Given the description of an element on the screen output the (x, y) to click on. 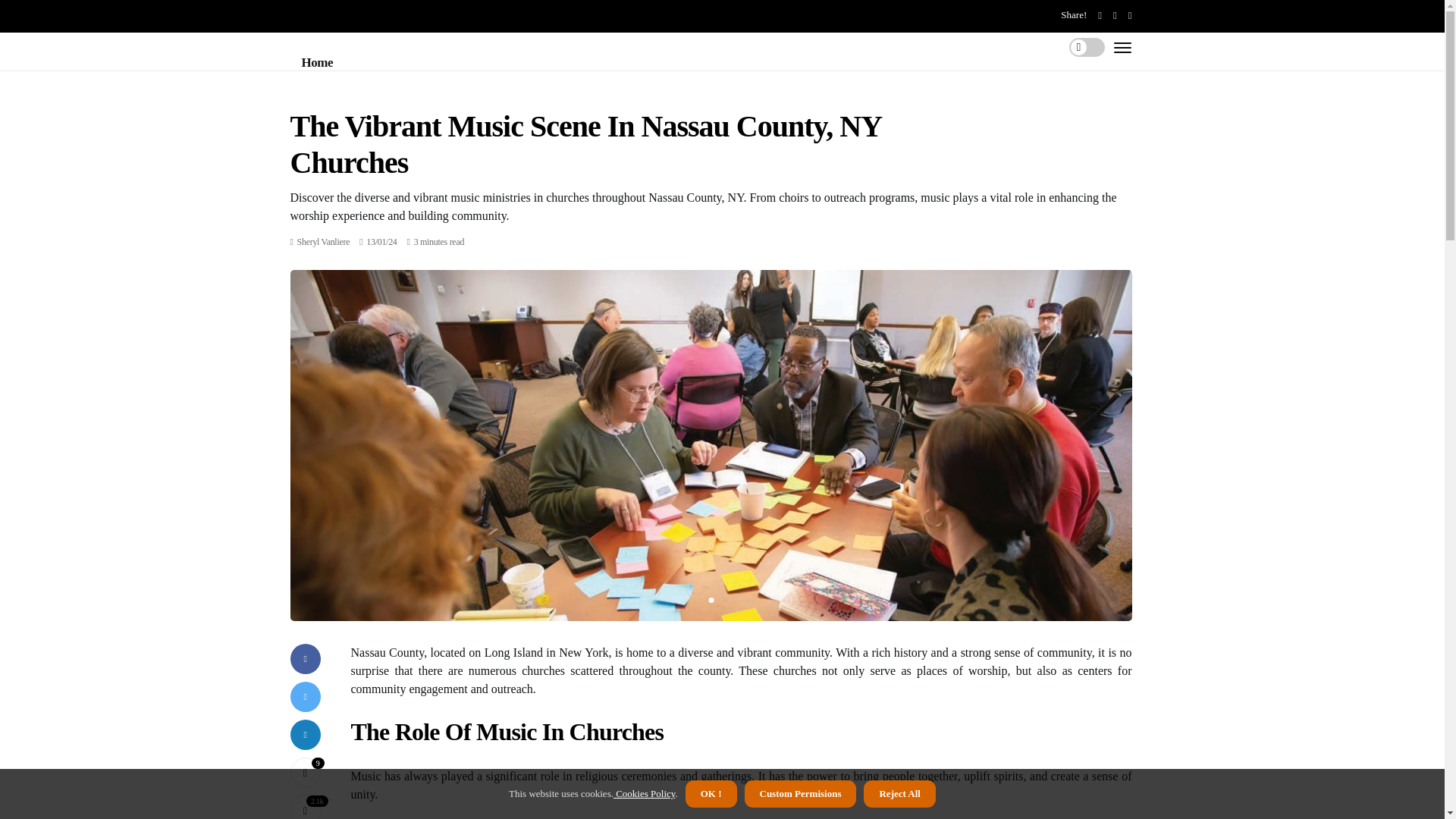
Like (304, 772)
Posts by Sheryl Vanliere (323, 241)
9 (304, 772)
Sheryl Vanliere (323, 241)
